Given the description of an element on the screen output the (x, y) to click on. 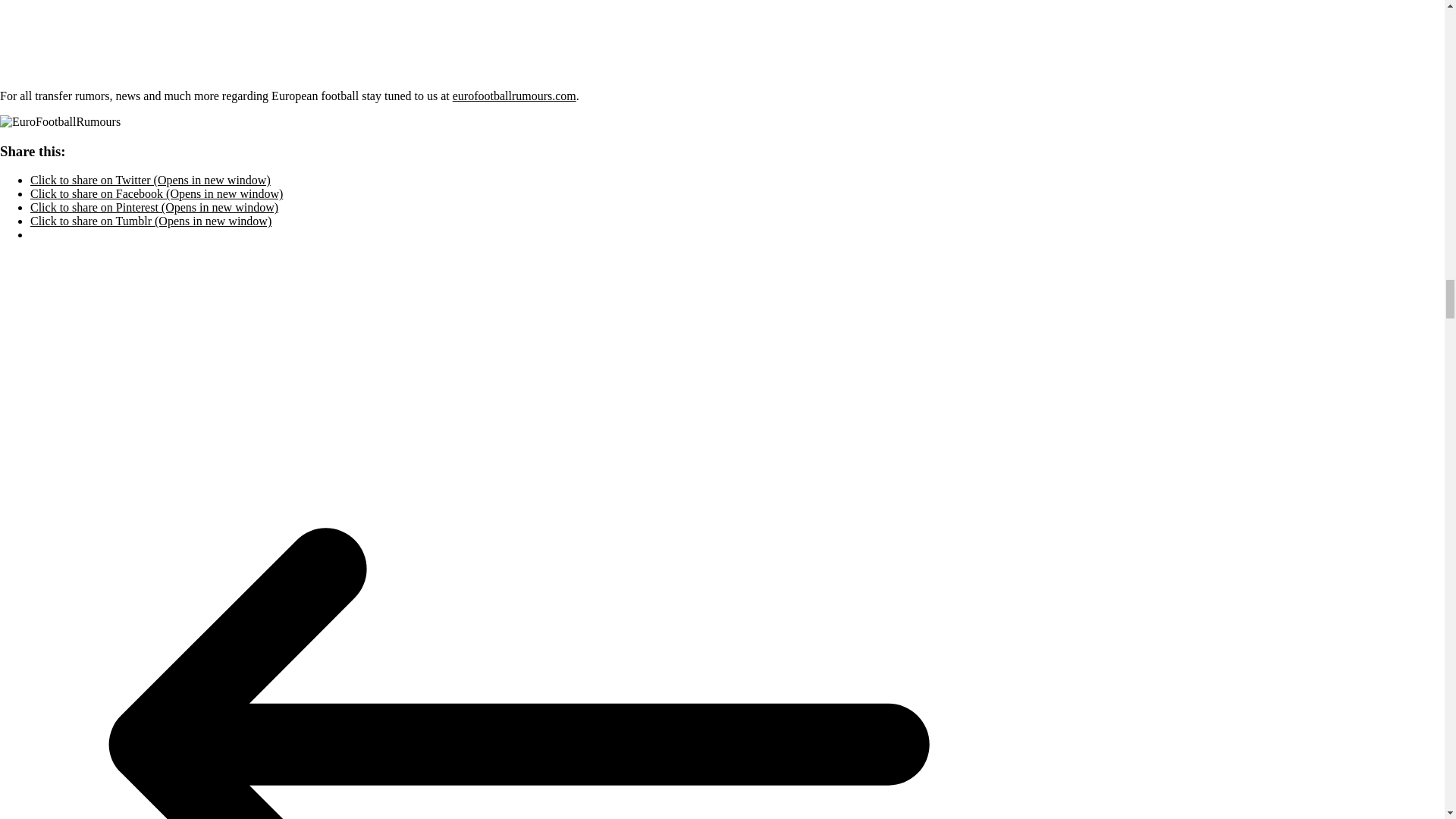
Click to share on Pinterest (154, 206)
Click to share on Facebook (156, 193)
Click to share on Twitter (150, 179)
Click to share on Tumblr (150, 220)
